Given the description of an element on the screen output the (x, y) to click on. 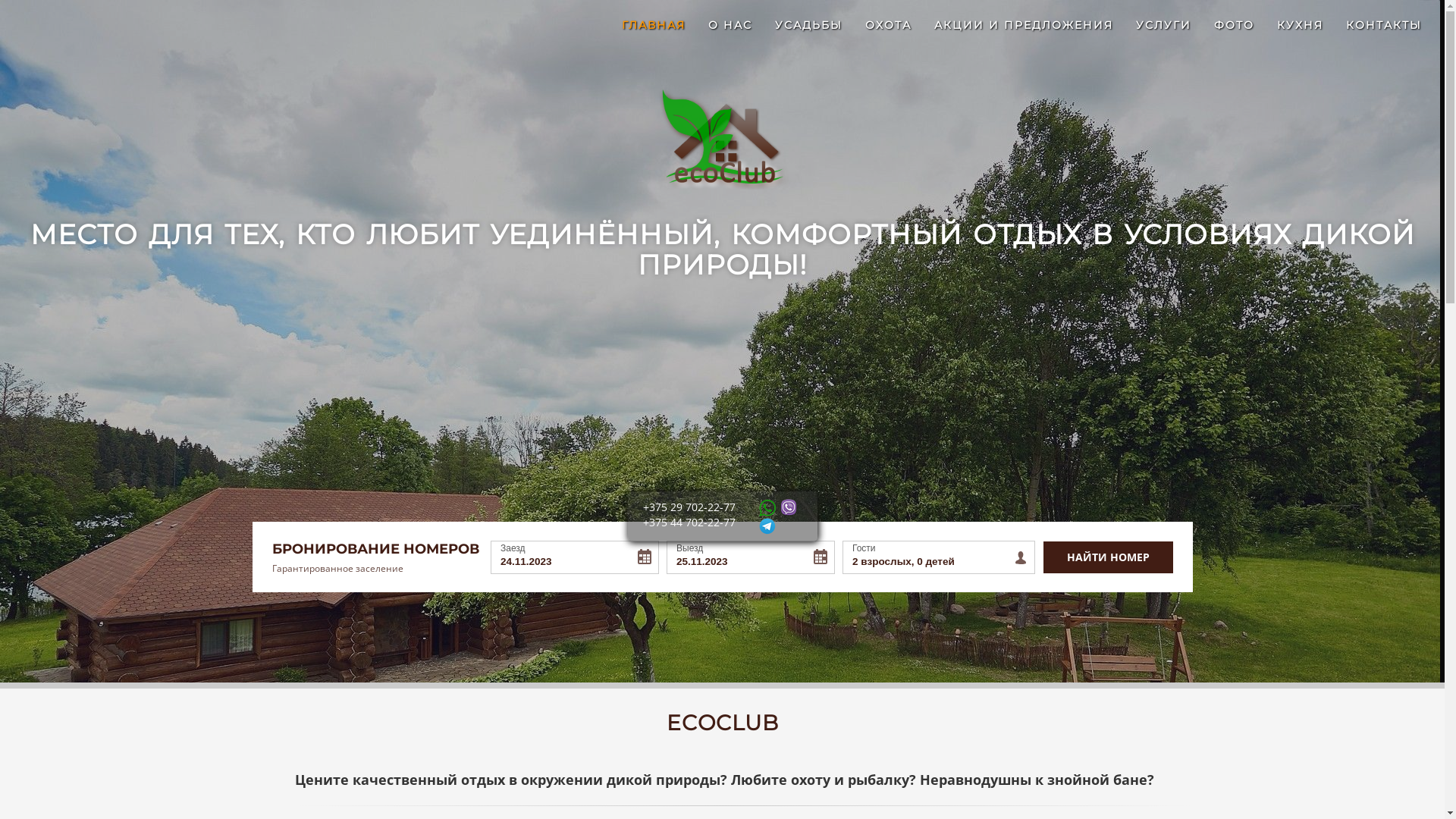
+375 29 702-22-77 Element type: text (689, 506)
EcoClub Element type: hover (721, 136)
+375 44 702-22-77 Element type: text (689, 521)
